Given the description of an element on the screen output the (x, y) to click on. 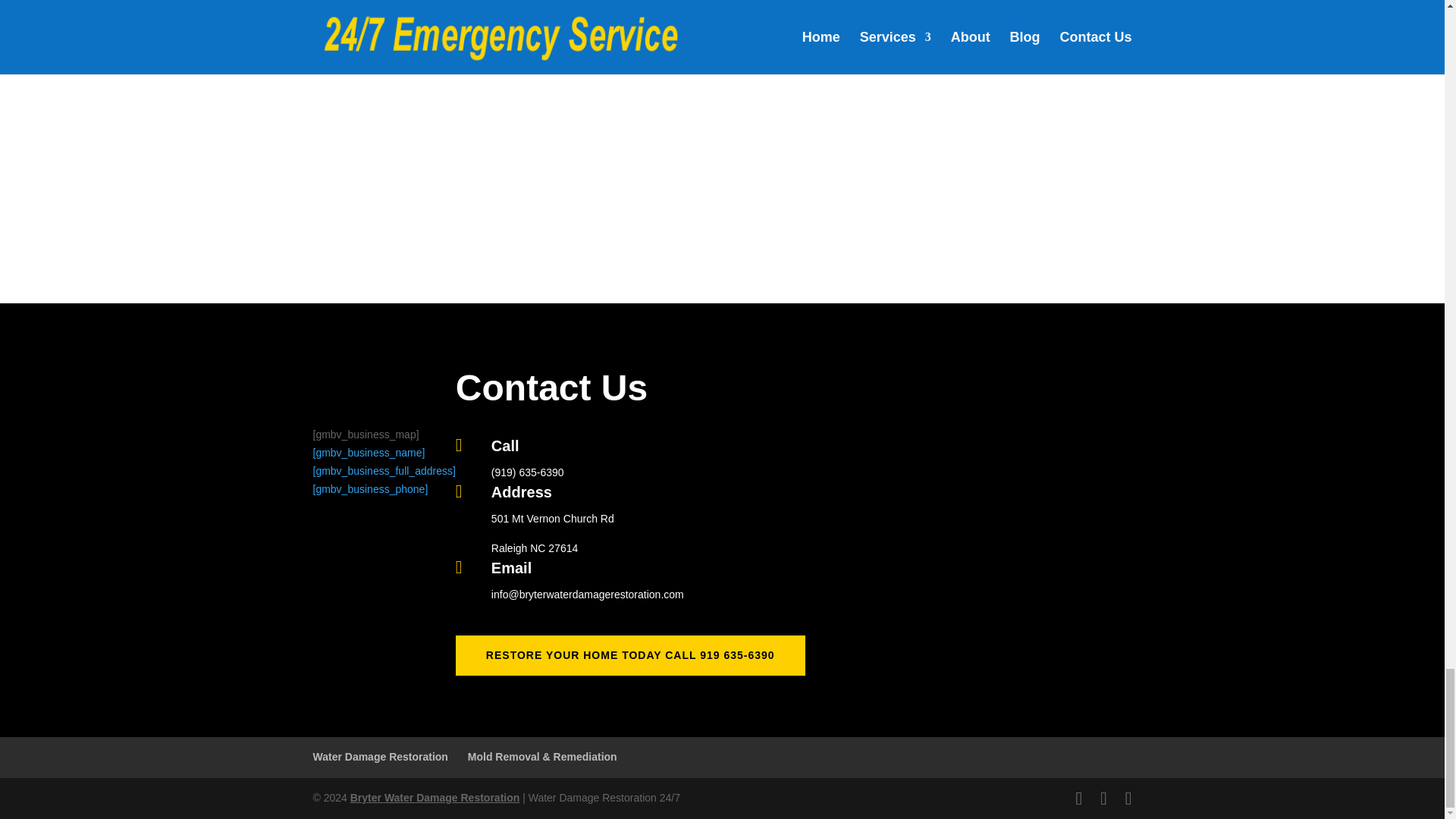
chronicle journal (494, 134)
Screen Shot 2021-07-14 at 4.32.42 PM (721, 157)
